Given the description of an element on the screen output the (x, y) to click on. 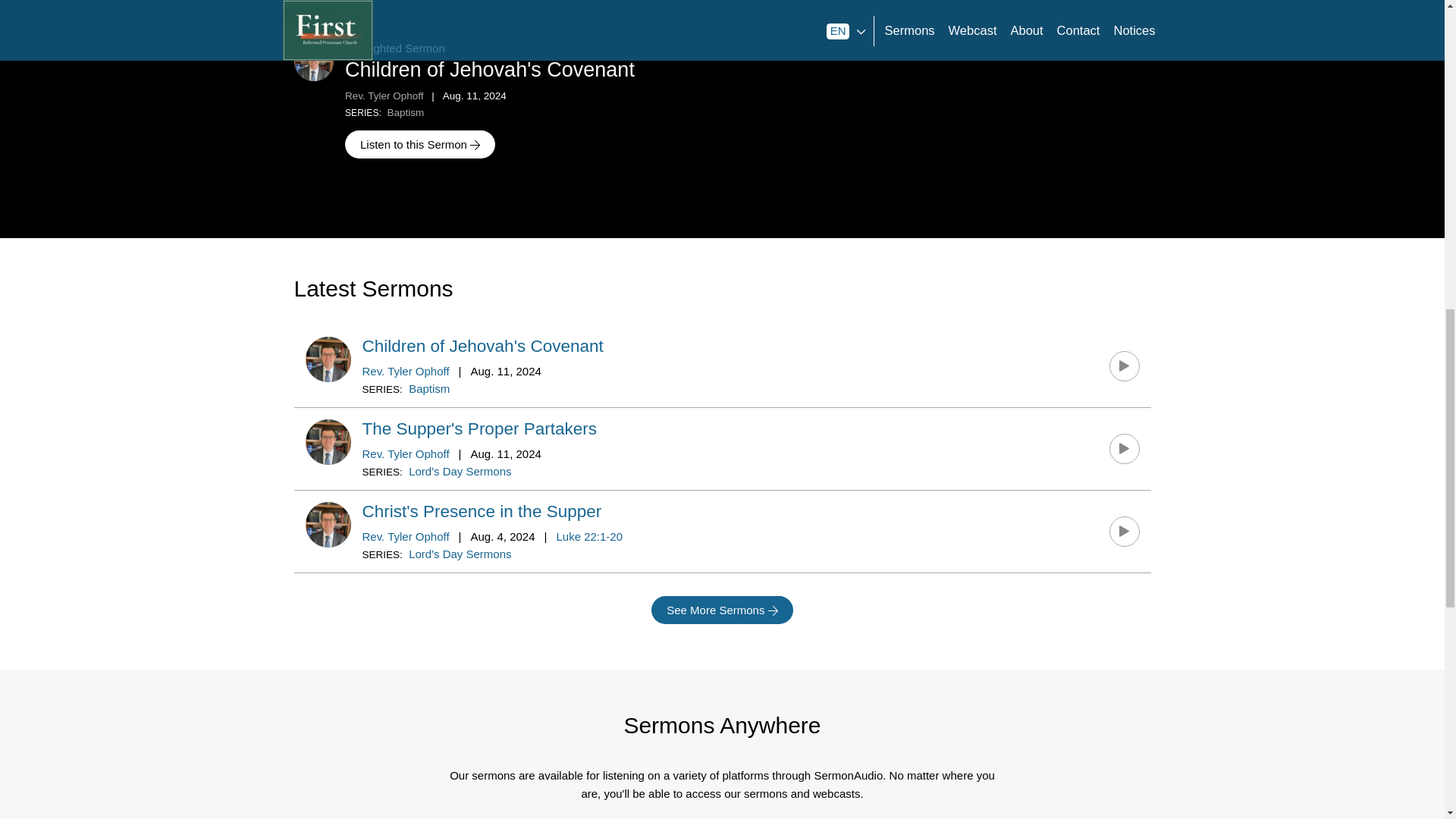
Listen to this Sermon (420, 144)
Luke 22:1-20 (589, 535)
Children of Jehovah's Covenant (489, 69)
See More Sermons (721, 610)
Rev. Tyler Ophoff (384, 95)
Christ's Presence in the Supper (482, 511)
Rev. Tyler Ophoff (405, 453)
Lord's Day Sermons (460, 553)
Children of Jehovah's Covenant (483, 345)
Rev. Tyler Ophoff (405, 535)
